Given the description of an element on the screen output the (x, y) to click on. 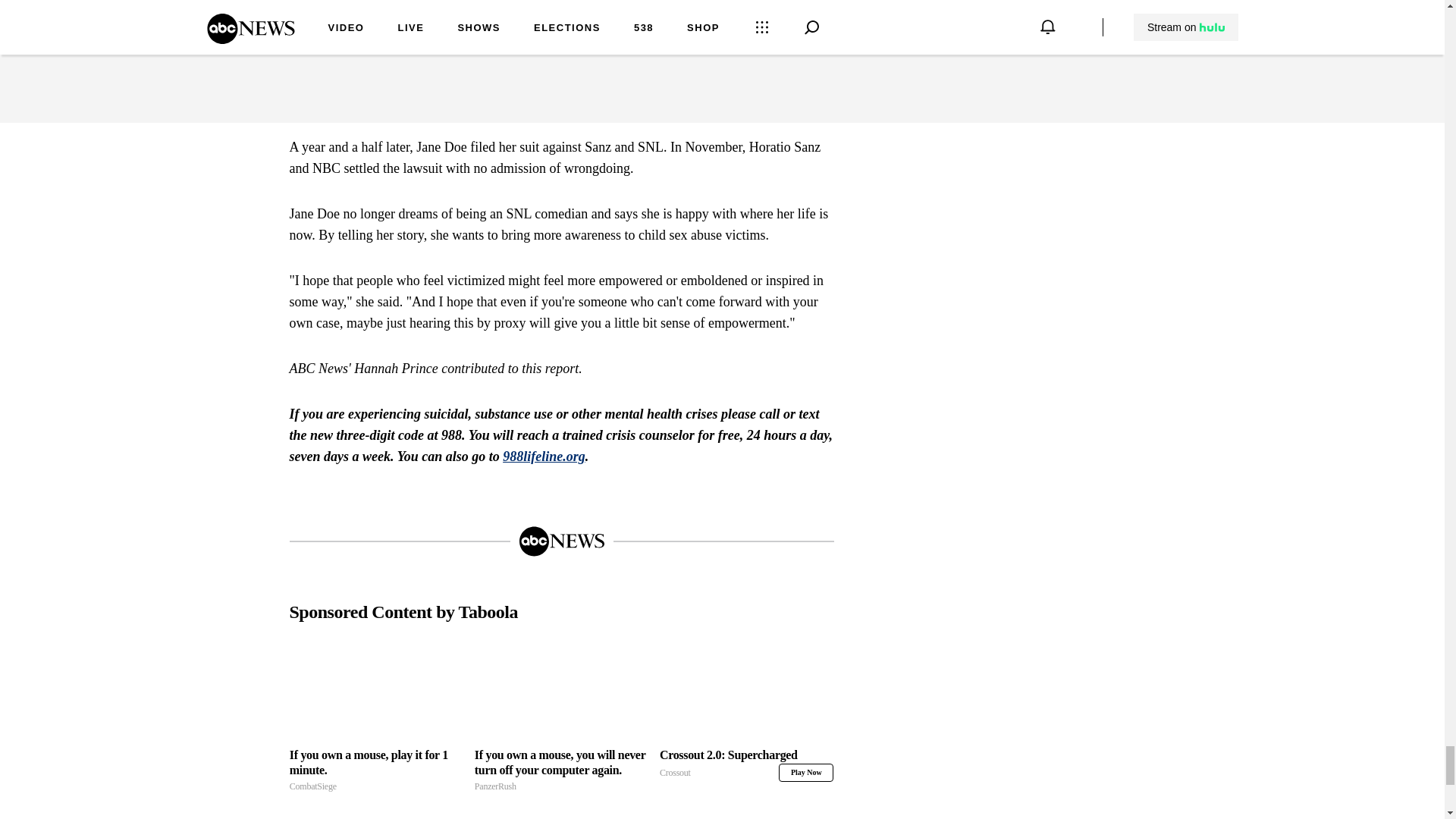
Crossout 2.0: Supercharged (745, 764)
If you own a mouse, play it for 1 minute. (745, 694)
Play Now (376, 770)
988lifeline.org (376, 770)
If you own a mouse, play it for 1 minute. (805, 772)
Crossout 2.0: Supercharged (543, 456)
Sponsored Content by Taboola (376, 694)
